Given the description of an element on the screen output the (x, y) to click on. 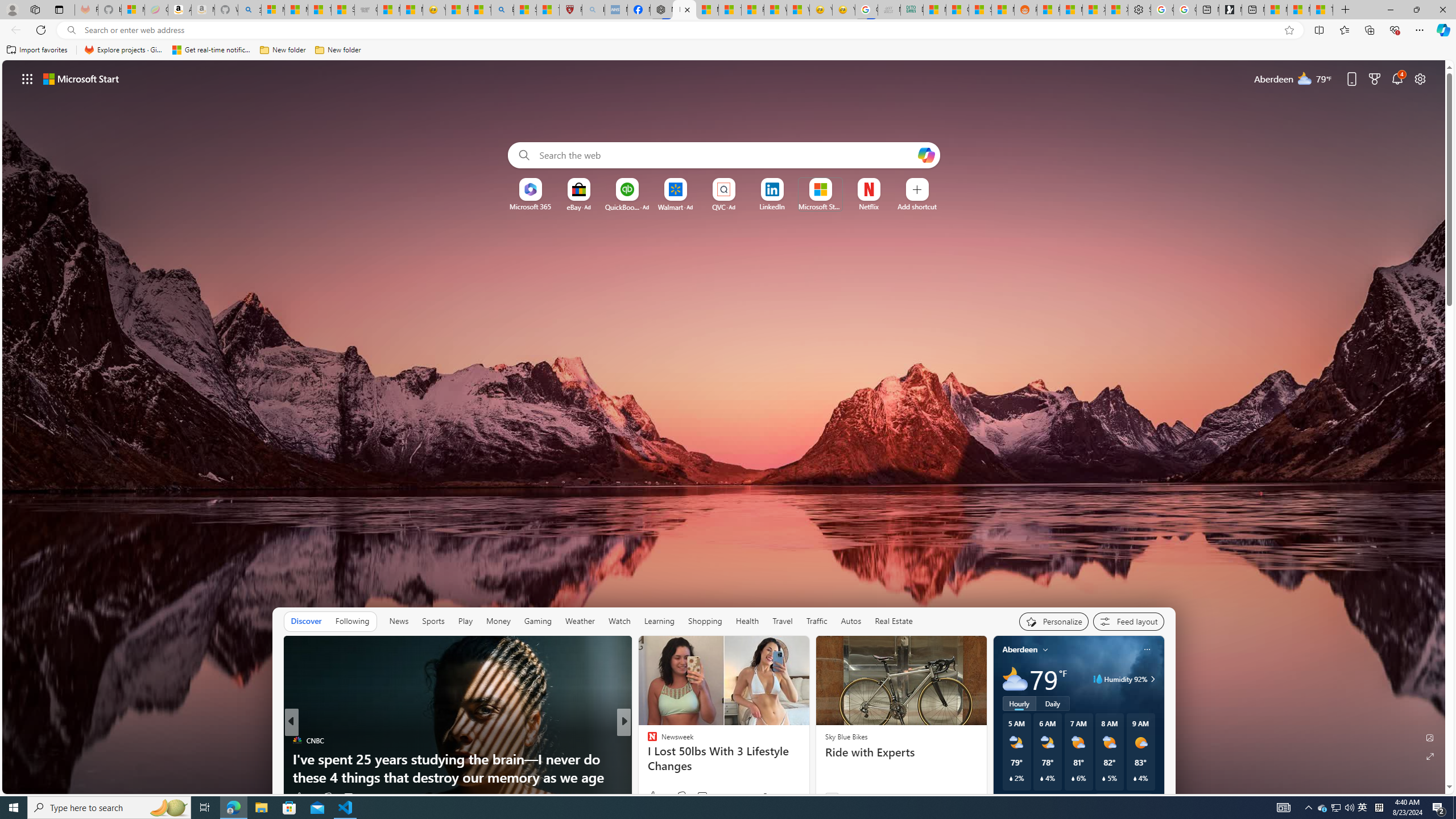
View comments 3 Comment (702, 796)
358 Like (654, 796)
17 Like (652, 796)
1k Like (302, 796)
R******* | Trusted Community Engagement and Contributions (1048, 9)
My location (1045, 649)
Add a site (916, 206)
